Given the description of an element on the screen output the (x, y) to click on. 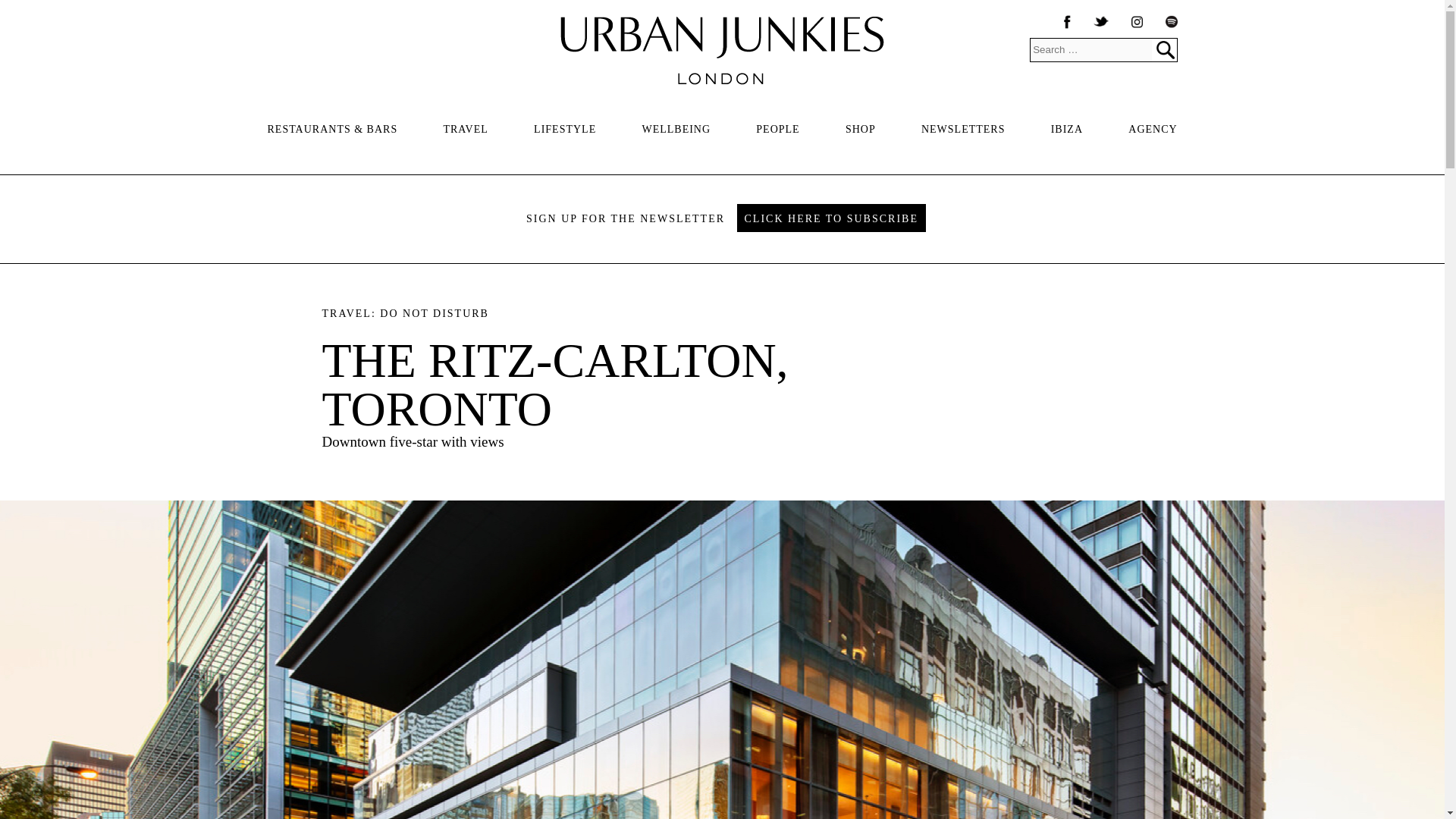
NEWSLETTERS (963, 129)
TRAVEL (465, 129)
Search (1165, 49)
Go to UJ's Twitter page (1100, 24)
LIFESTYLE (564, 129)
Go to UJ's Spotify profile (1171, 24)
WELLBEING (675, 129)
Search (1165, 49)
PEOPLE (777, 129)
SHOP (860, 129)
